Given the description of an element on the screen output the (x, y) to click on. 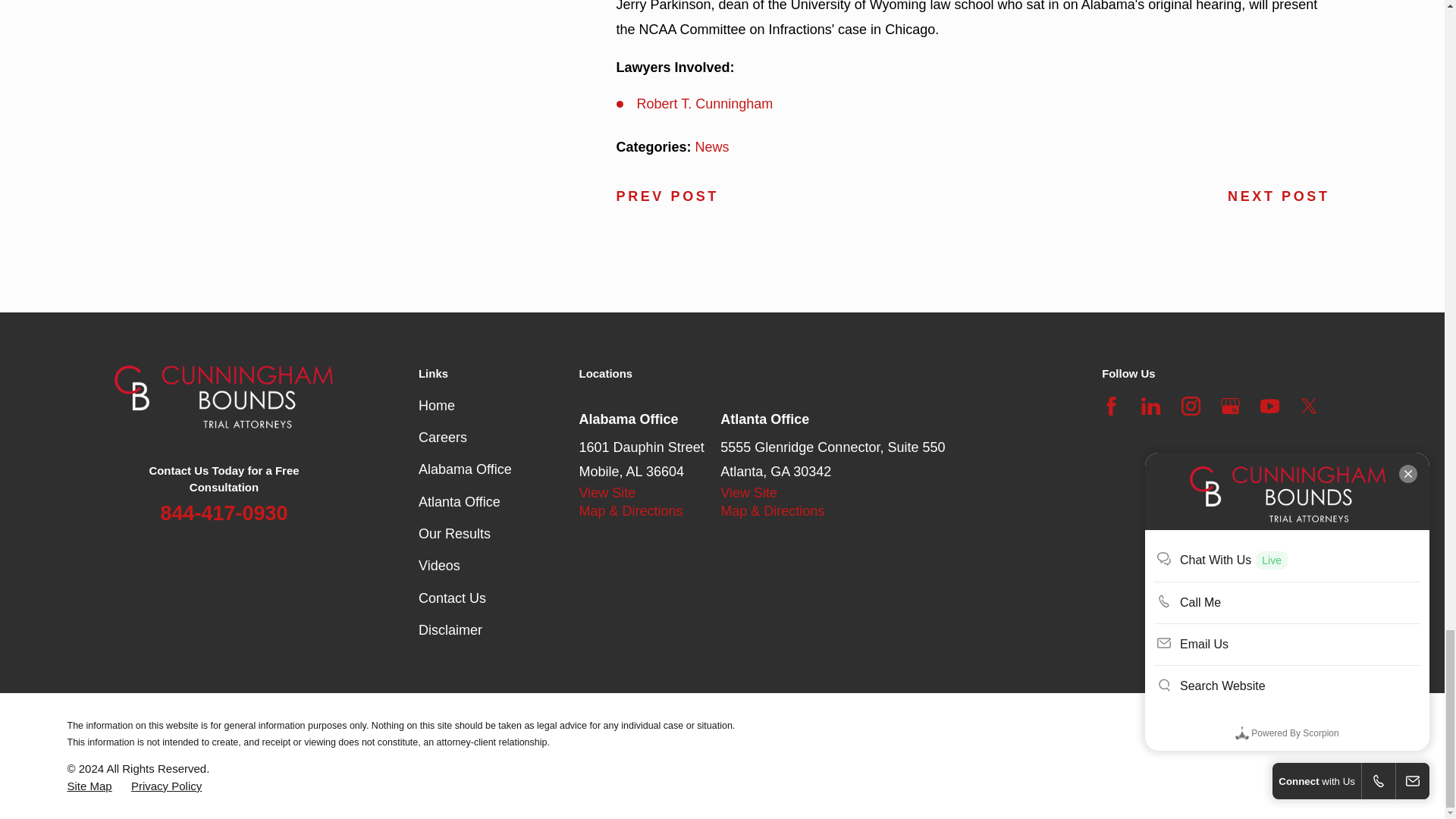
Home (267, 396)
Facebook (1111, 405)
Cunningham Bounds (224, 396)
LinkedIn (1150, 405)
